Given the description of an element on the screen output the (x, y) to click on. 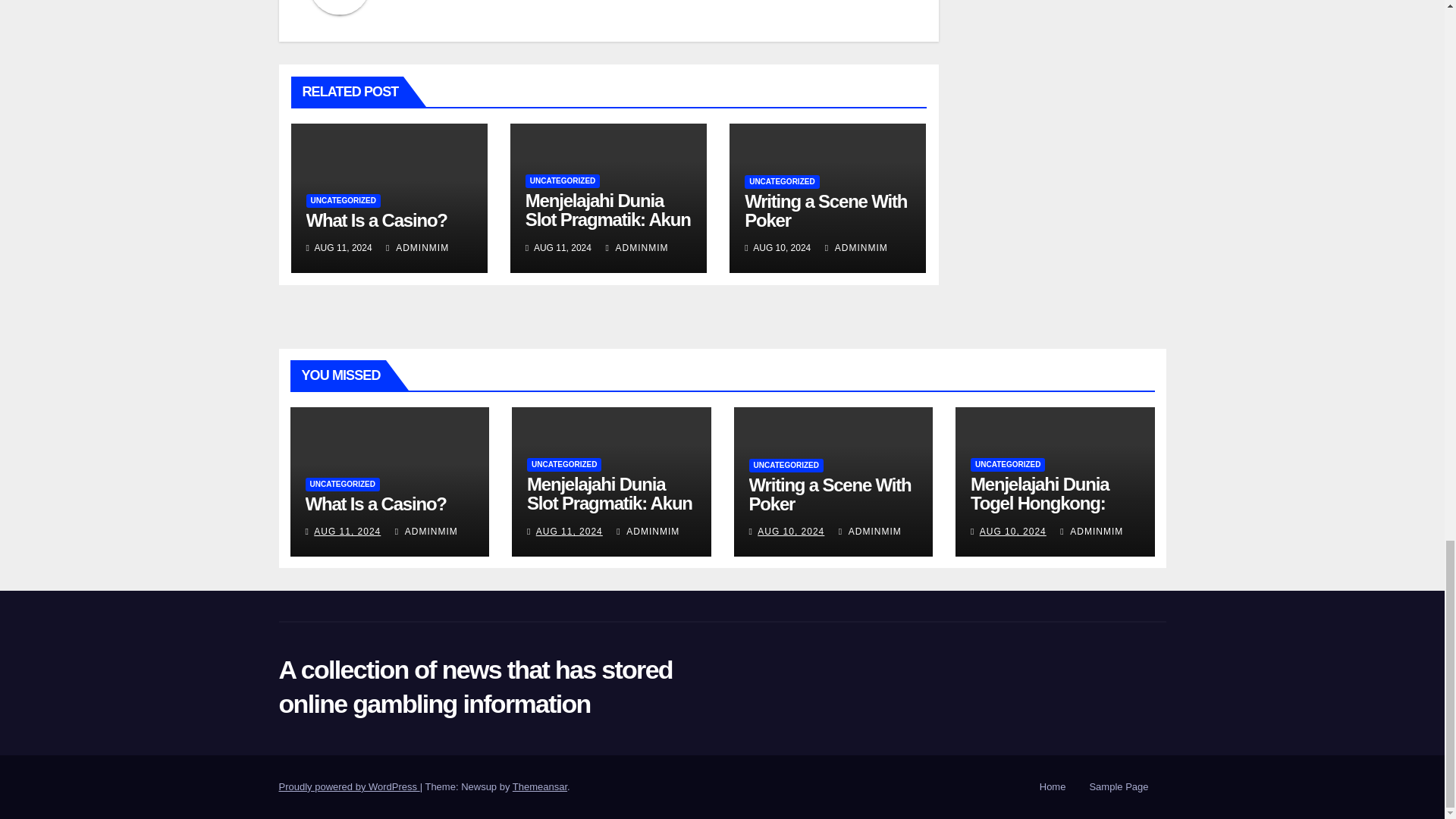
UNCATEGORIZED (562, 181)
Permalink to: Writing a Scene With Poker (825, 210)
Permalink to: Writing a Scene With Poker (830, 494)
Home (1052, 786)
Permalink to: What Is a Casino? (375, 219)
ADMINMIM (416, 247)
ADMINMIM (636, 247)
UNCATEGORIZED (342, 201)
